Given the description of an element on the screen output the (x, y) to click on. 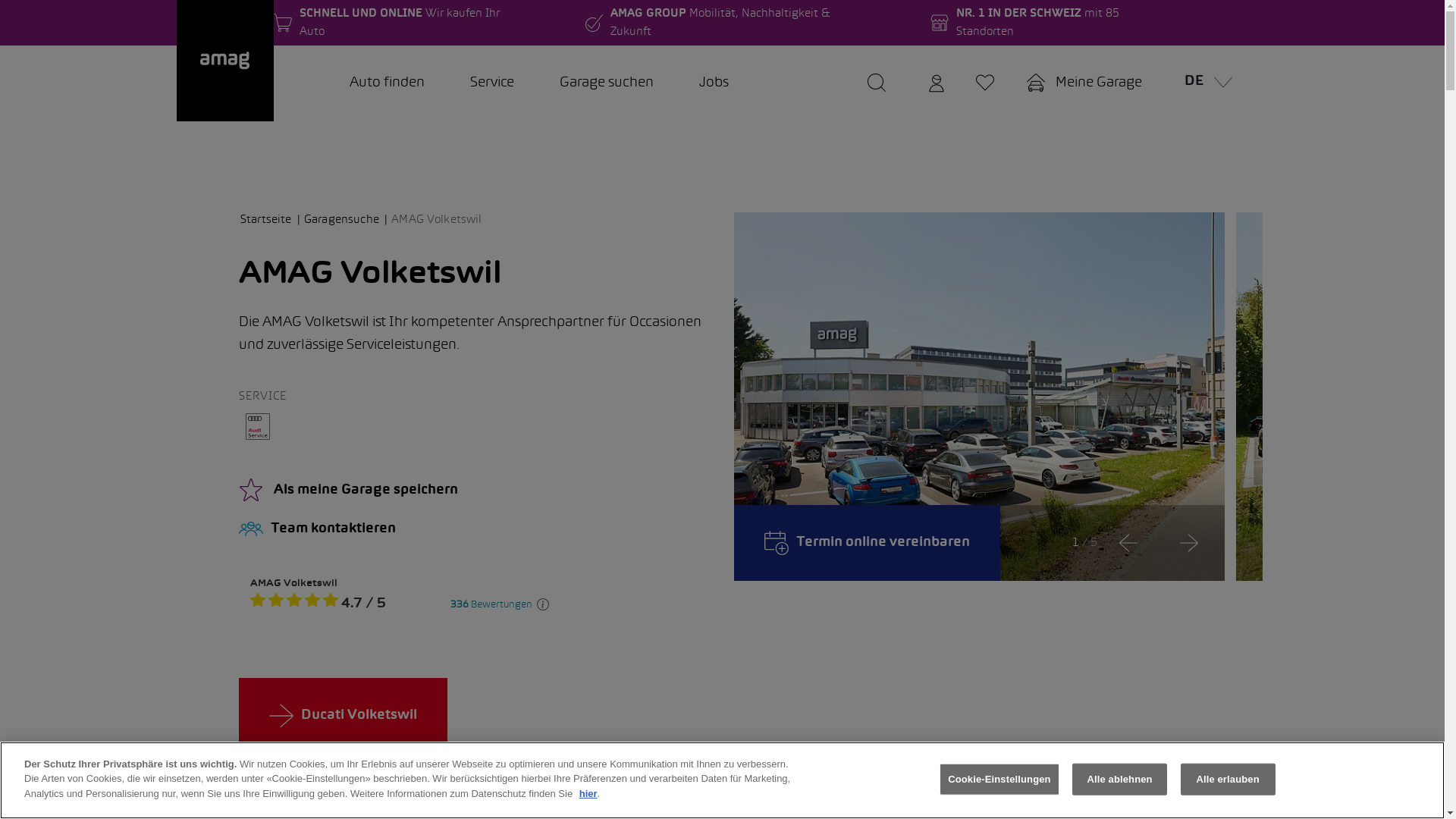
Meine Garage Element type: text (1083, 83)
Garage suchen Element type: text (606, 83)
Team kontaktieren Element type: text (474, 529)
hier Element type: text (588, 793)
Auto finden Element type: text (386, 83)
Service Element type: text (491, 83)
Jobs Element type: text (713, 83)
Startseite Element type: text (270, 219)
Termin online vereinbaren Element type: text (867, 542)
SCHNELL UND ONLINE Wir kaufen Ihr Auto Element type: text (398, 22)
Alle ablehnen Element type: text (1119, 779)
Garagensuche Element type: text (345, 219)
NR. 1 IN DER SCHWEIZ mit 85 Standorten Element type: text (1053, 22)
Alle erlauben Element type: text (1227, 779)
Ducati Volketswil Element type: text (342, 715)
DE Element type: text (1203, 83)
Cookie-Einstellungen Element type: text (999, 779)
